Given the description of an element on the screen output the (x, y) to click on. 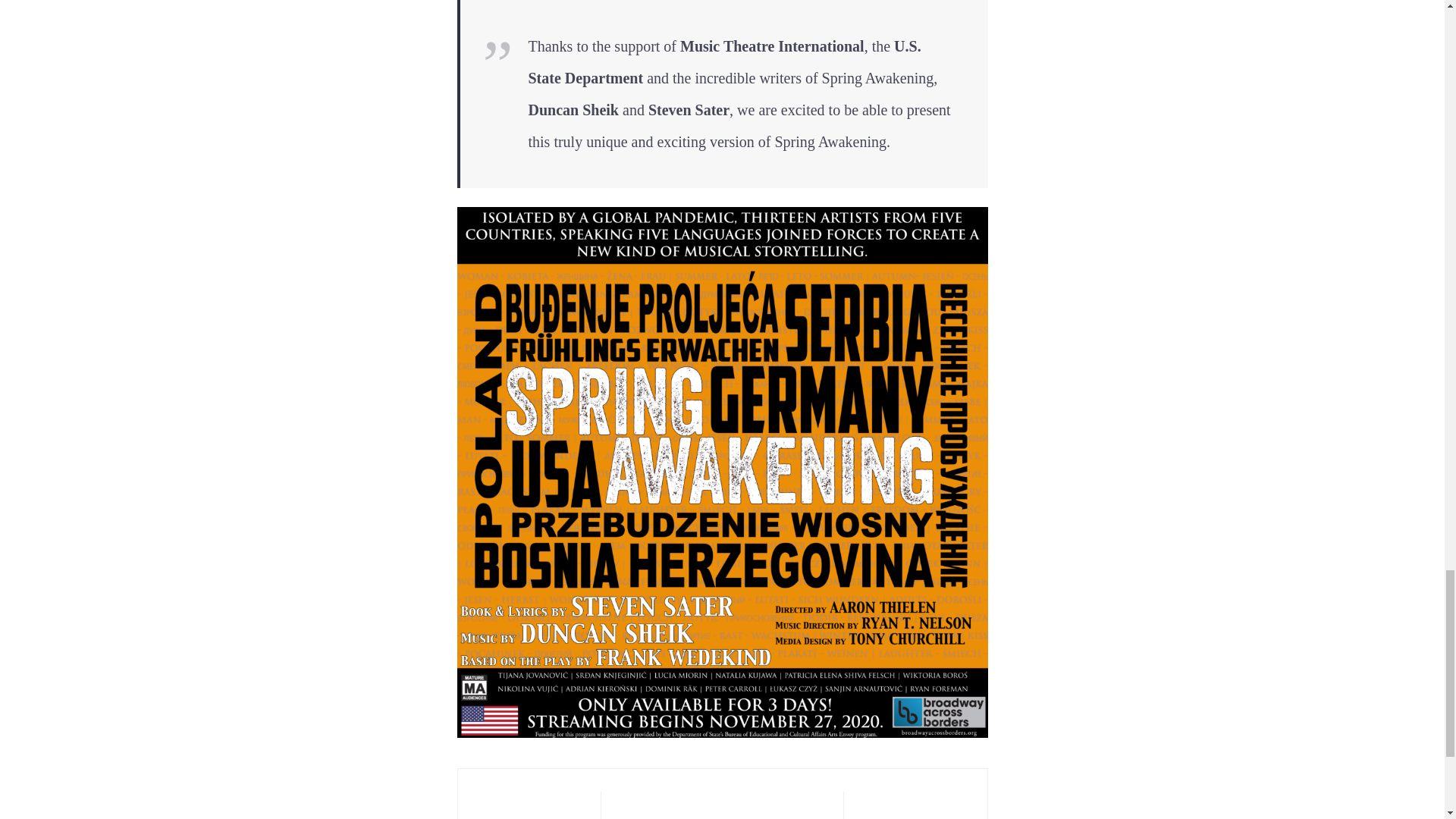
BACK TO PROJECTS (721, 805)
PREVIOUS (528, 805)
